Given the description of an element on the screen output the (x, y) to click on. 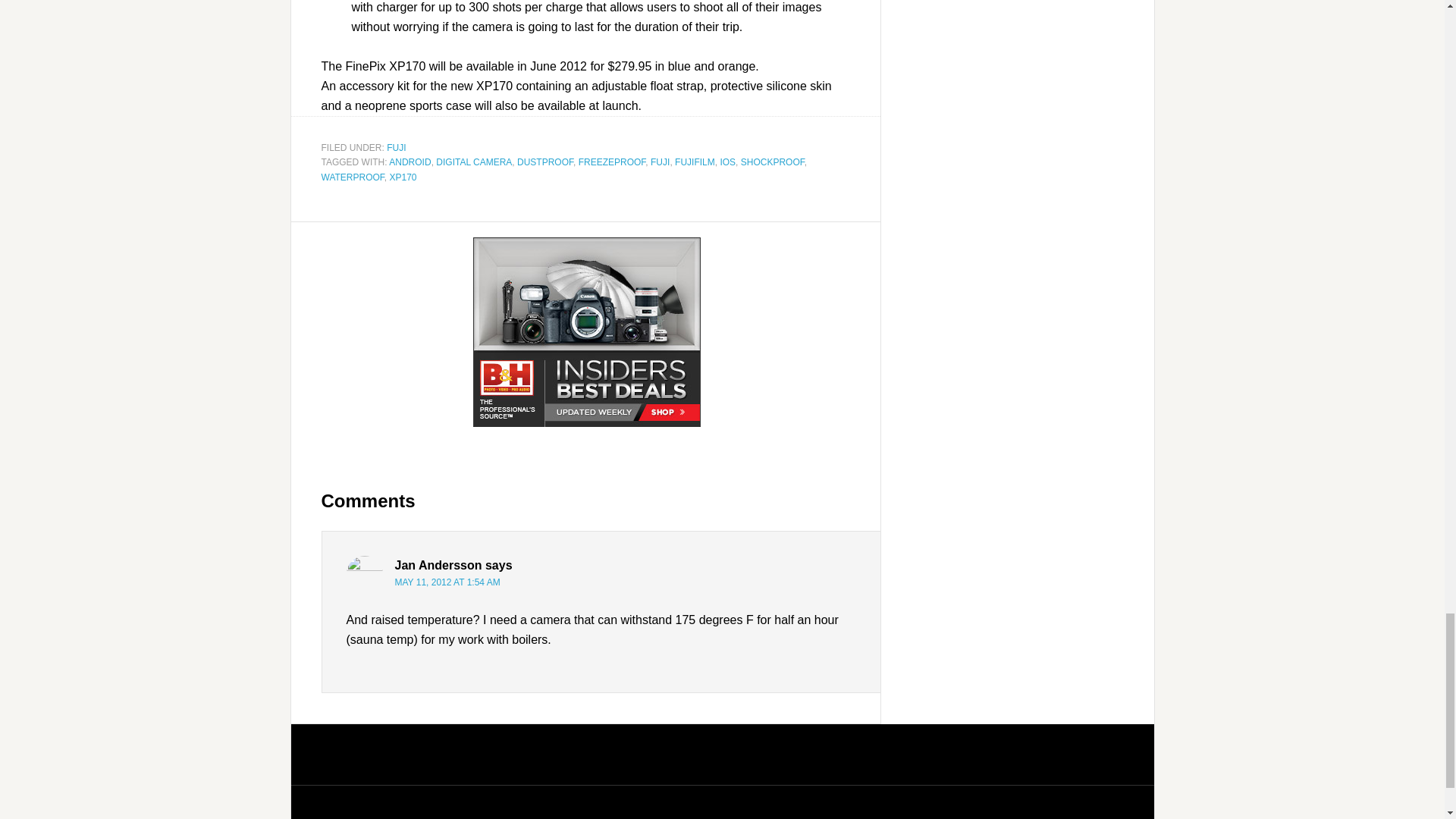
MAY 11, 2012 AT 1:54 AM (446, 582)
XP170 (403, 176)
FREEZEPROOF (612, 162)
FUJI (396, 146)
FUJIFILM (694, 162)
DUSTPROOF (544, 162)
WATERPROOF (352, 176)
DIGITAL CAMERA (473, 162)
ANDROID (409, 162)
IOS (727, 162)
